Given the description of an element on the screen output the (x, y) to click on. 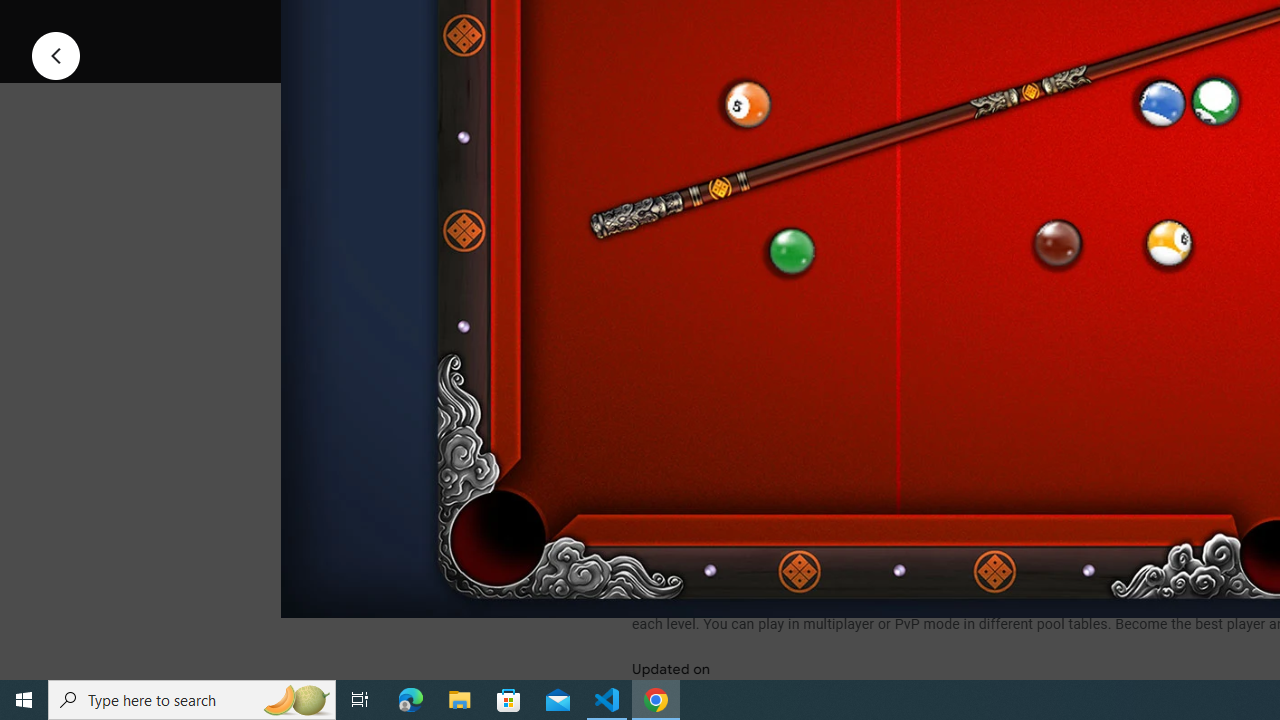
Install (732, 24)
Share (890, 24)
Screenshot image (895, 271)
Previous (55, 54)
Add to wishlist (1014, 24)
See more information on About this game (830, 477)
